Given the description of an element on the screen output the (x, y) to click on. 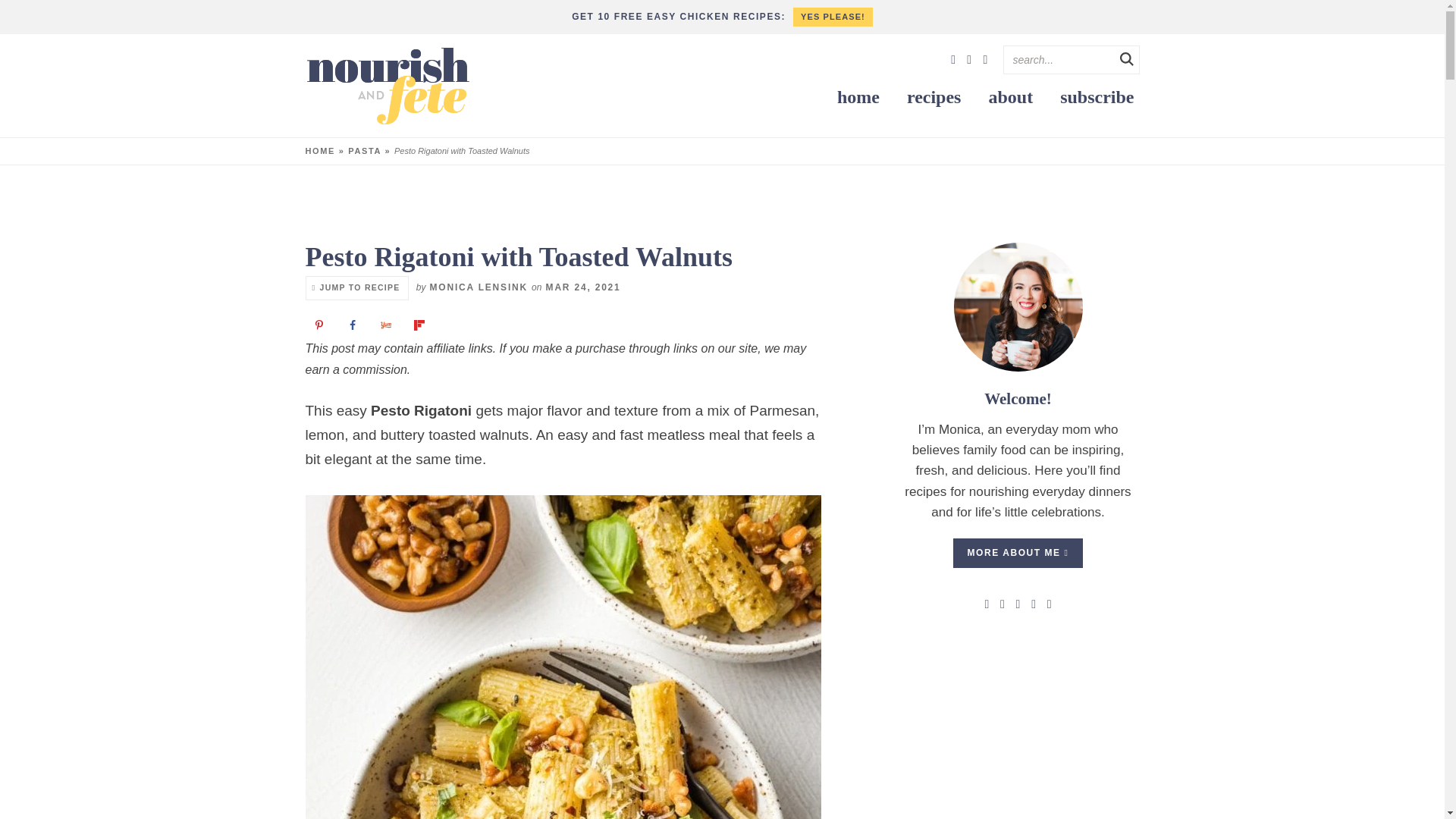
home (858, 96)
Nourish and Fete (387, 85)
Share on Flipboard (420, 327)
Share on Facebook (354, 327)
More About Me (1017, 306)
Save to Pinterest (319, 327)
Share on Yummly (387, 327)
recipes (933, 96)
YES PLEASE! (832, 16)
